Given the description of an element on the screen output the (x, y) to click on. 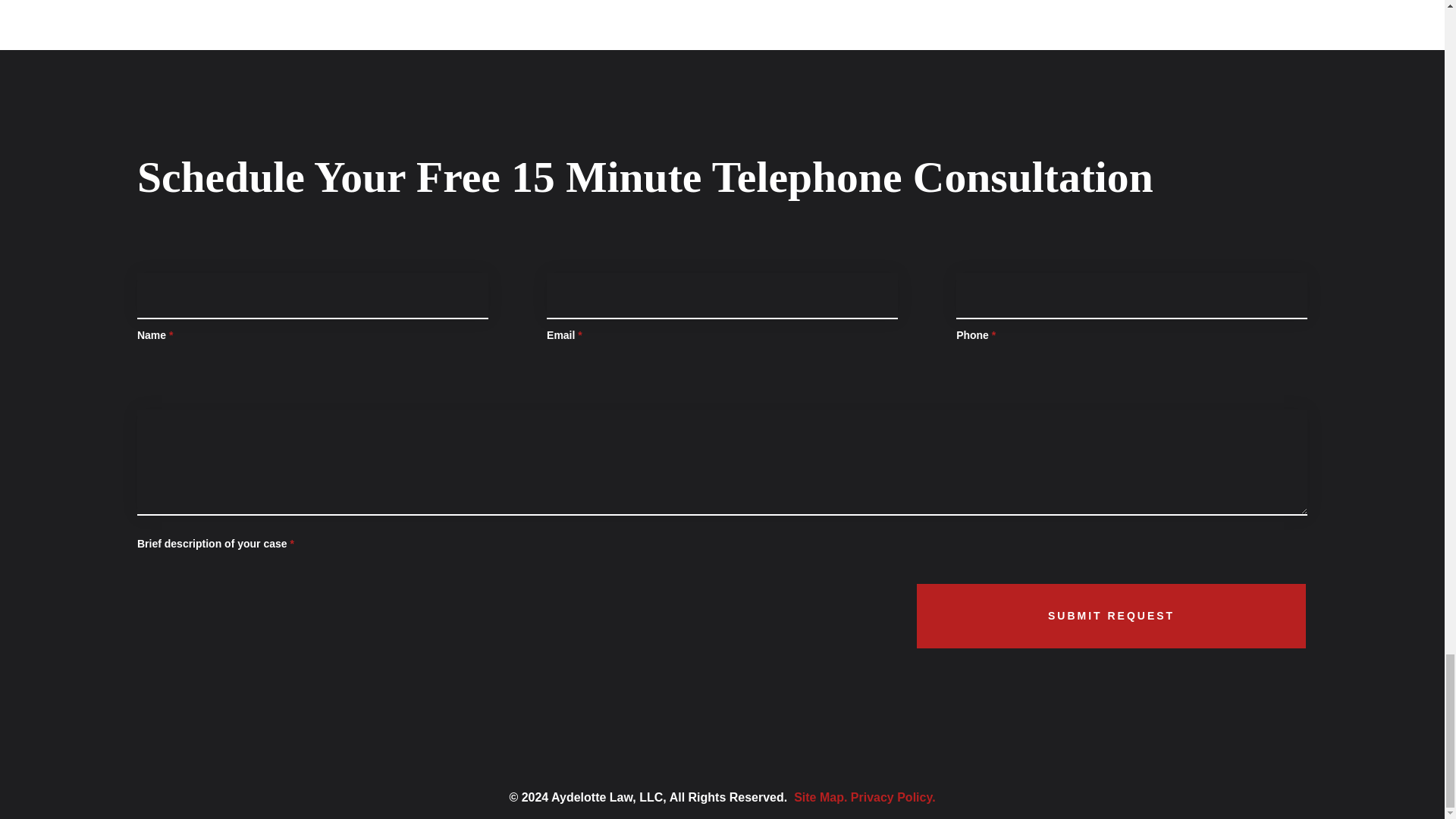
Submit Request (1111, 615)
